Given the description of an element on the screen output the (x, y) to click on. 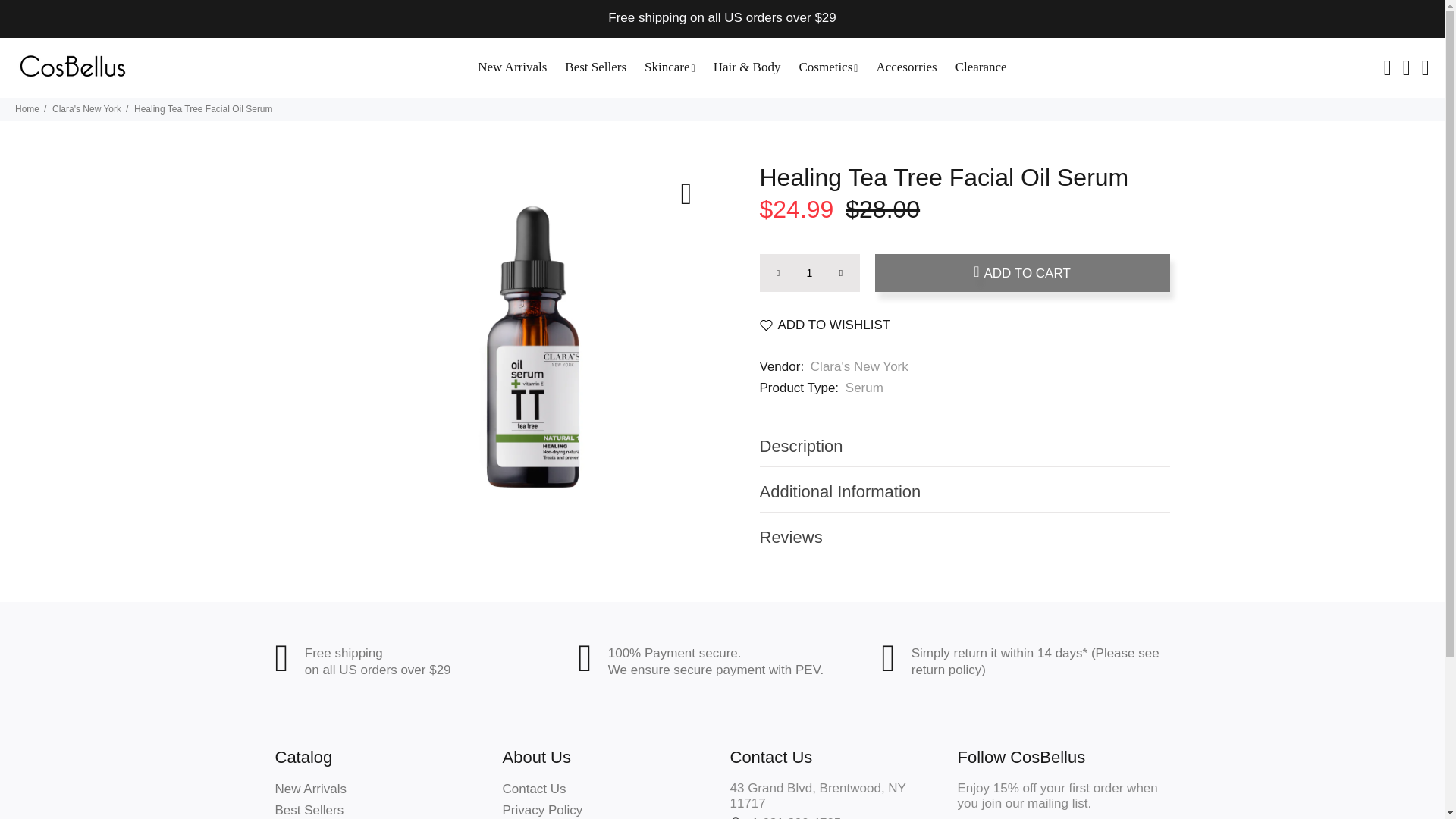
Skincare (669, 67)
New Arrivals (512, 67)
Best Sellers (595, 67)
1 (810, 272)
Cosmetics (827, 67)
Clearance (976, 67)
Accesorries (905, 67)
